Given the description of an element on the screen output the (x, y) to click on. 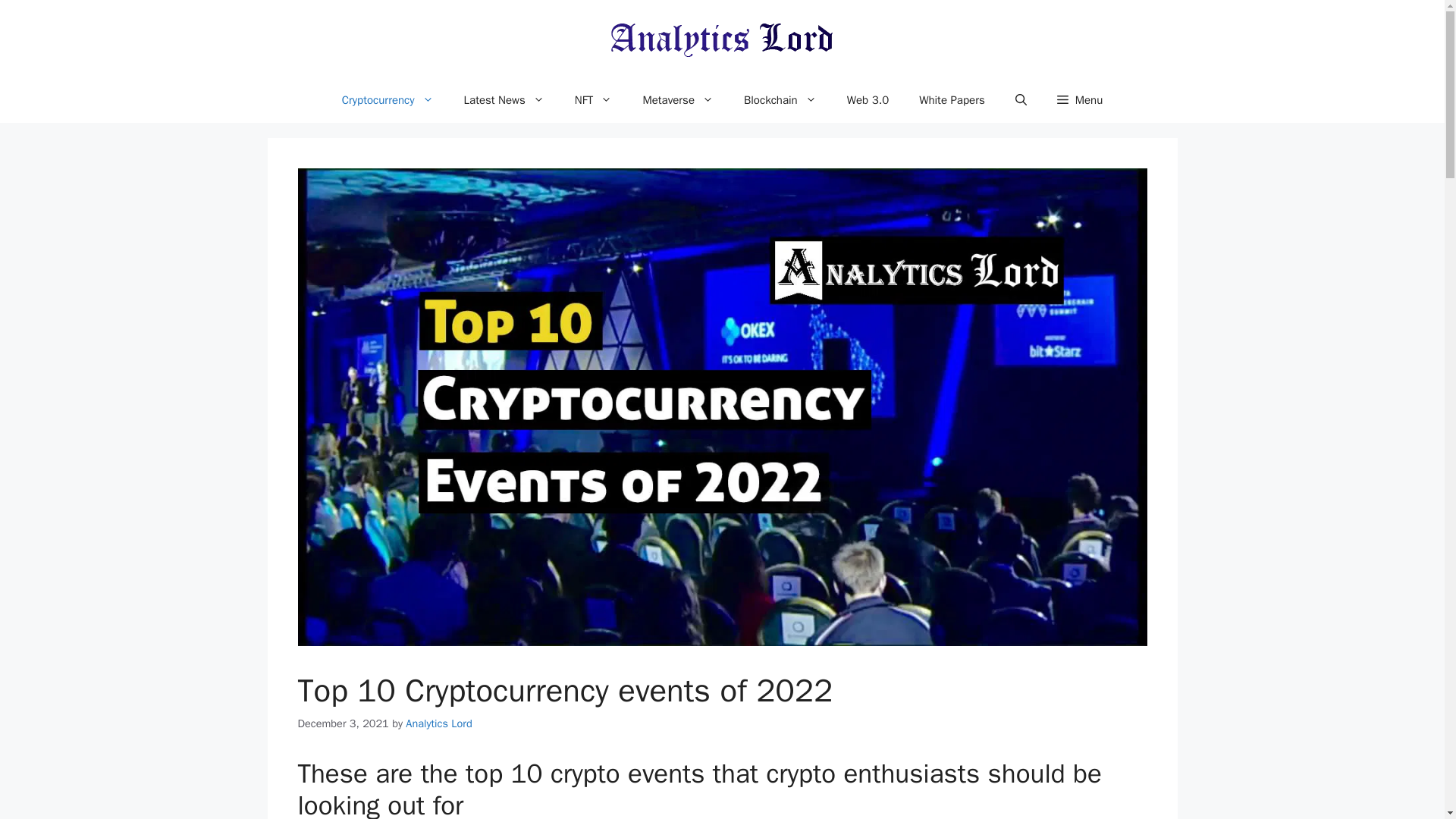
White Papers (952, 99)
Metaverse (678, 99)
Web 3.0 (867, 99)
Blockchain (780, 99)
NFT (593, 99)
View all posts by Analytics Lord (438, 723)
Cryptocurrency (387, 99)
Latest News (503, 99)
